Given the description of an element on the screen output the (x, y) to click on. 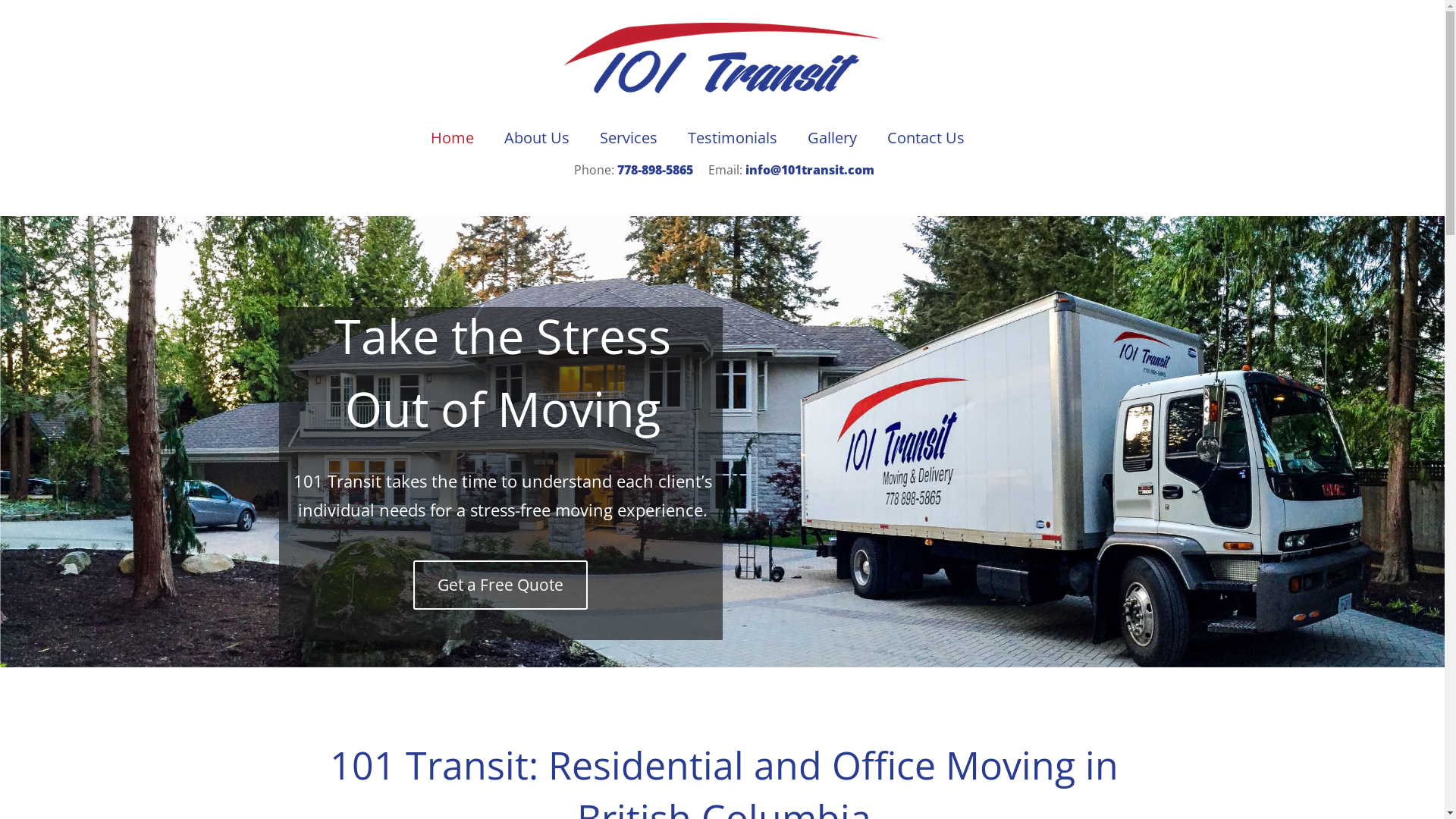
About Us Element type: text (536, 137)
info@101transit.com Element type: text (809, 169)
Get a Free Quote Element type: text (499, 584)
Gallery Element type: text (832, 137)
778-898-5865 Element type: text (655, 169)
Contact Us Element type: text (925, 137)
Testimonials Element type: text (732, 137)
Home Element type: text (452, 137)
